Given the description of an element on the screen output the (x, y) to click on. 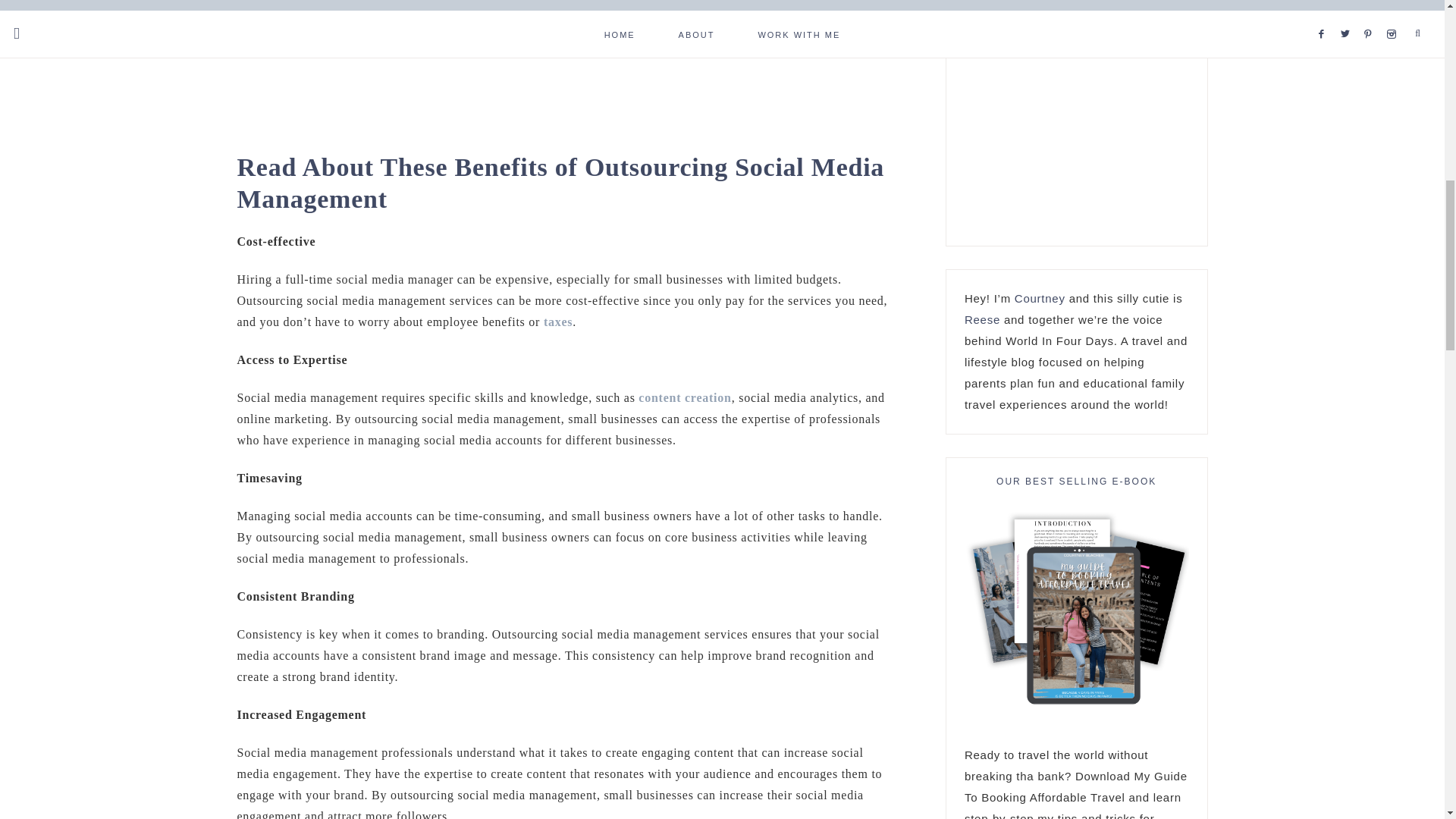
content creation (684, 397)
taxes (557, 321)
